Given the description of an element on the screen output the (x, y) to click on. 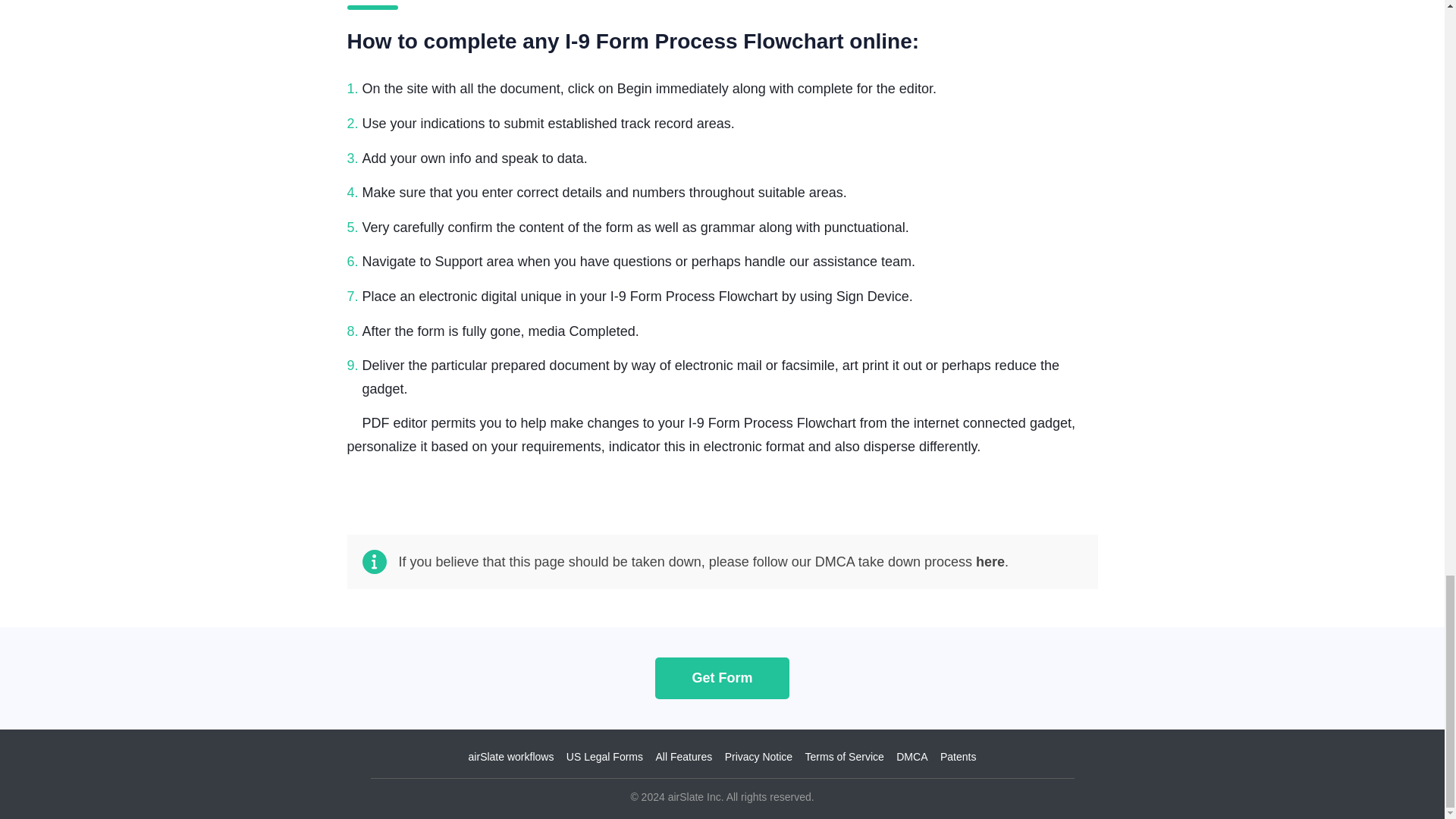
Terms of Service (844, 756)
DMCA (911, 756)
US Legal Forms (604, 756)
All Features (683, 756)
Get Form (722, 677)
Privacy Notice (758, 756)
here (989, 561)
Patents (957, 756)
airSlate workflows (511, 756)
